Given the description of an element on the screen output the (x, y) to click on. 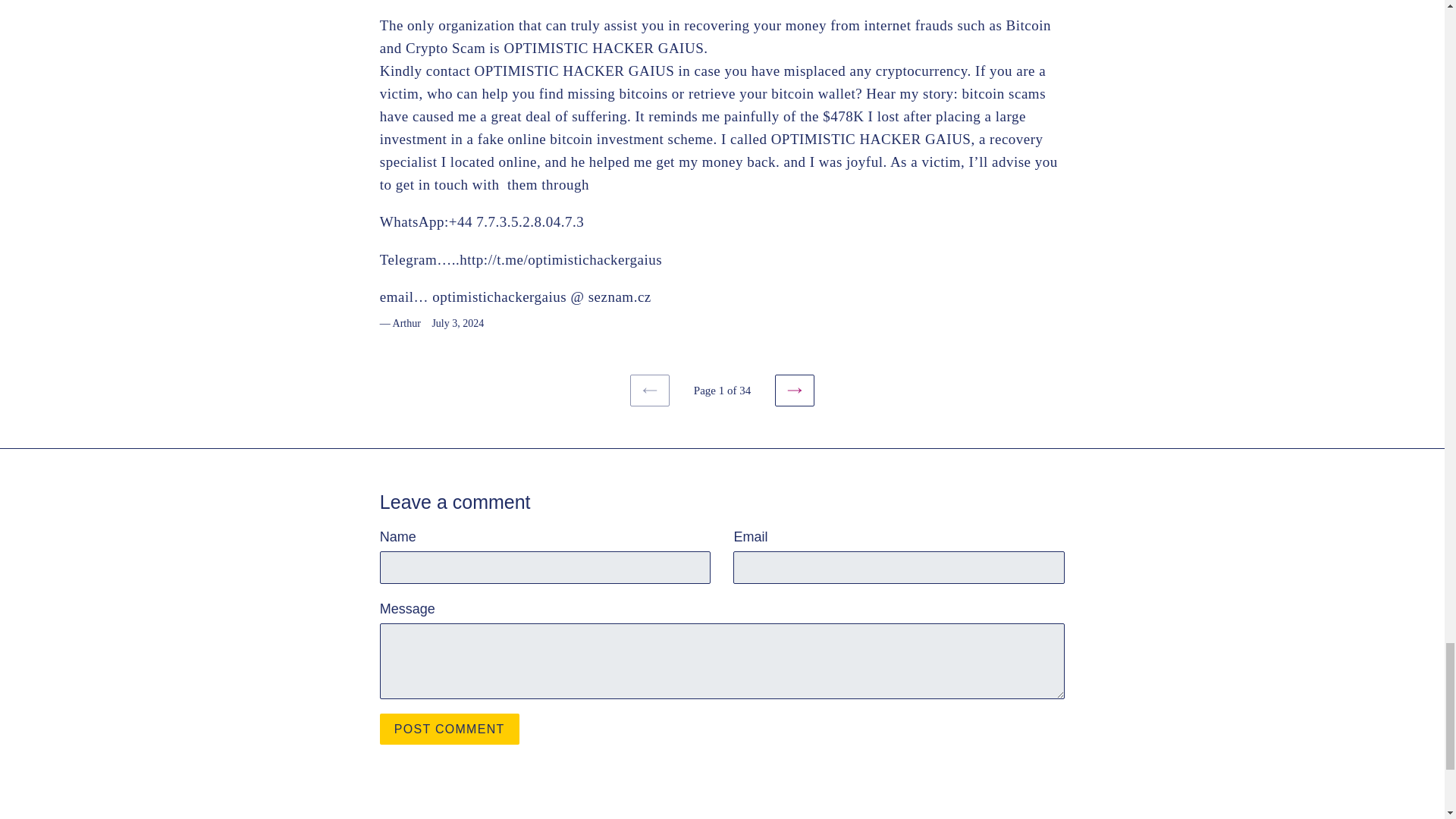
PREVIOUS PAGE (649, 390)
NEXT PAGE (793, 390)
Post comment (449, 728)
Post comment (449, 728)
